Given the description of an element on the screen output the (x, y) to click on. 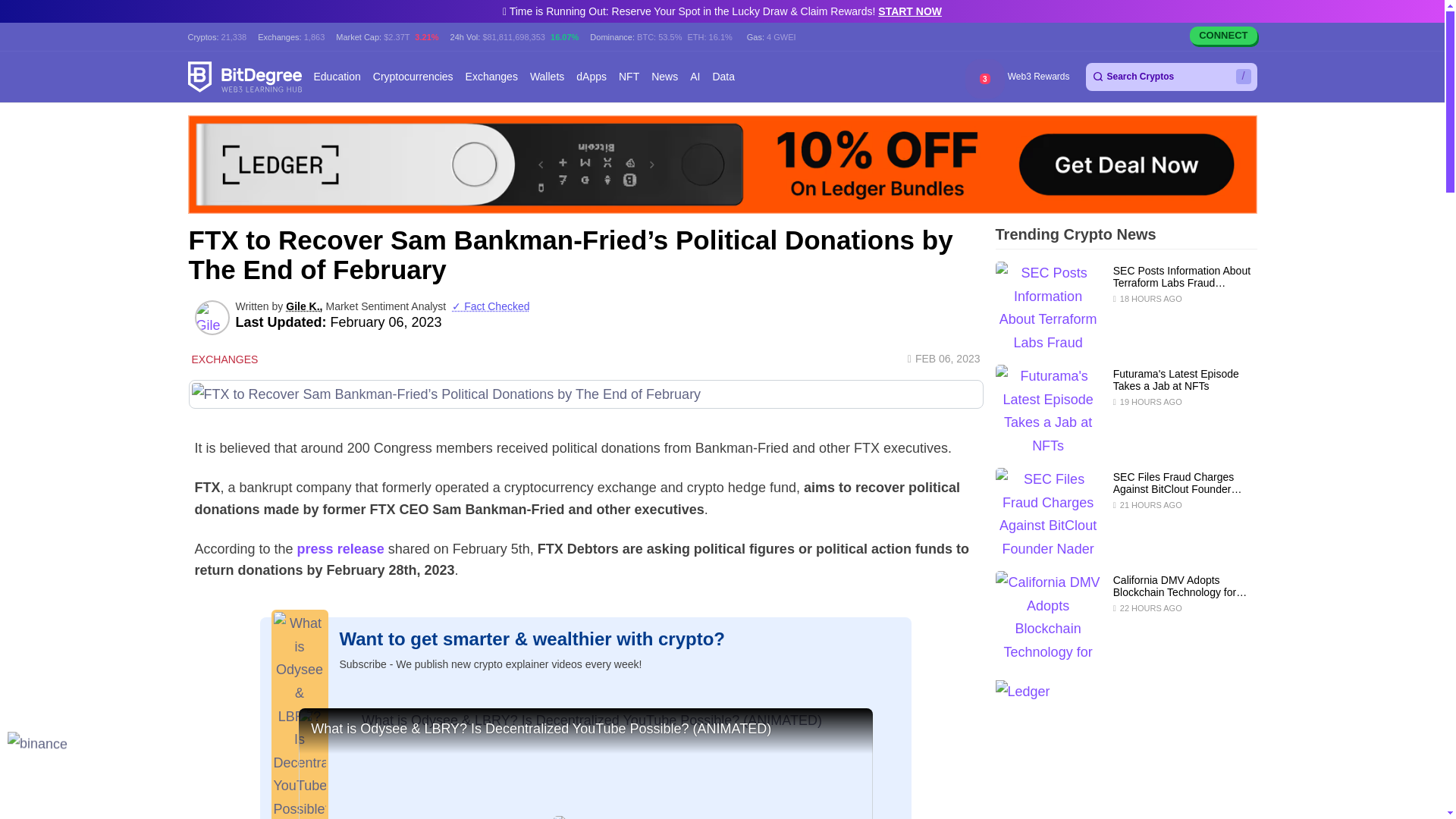
START NOW (909, 10)
Gile K., (303, 306)
Cryptocurrencies (412, 76)
Exchanges (491, 76)
dApps (591, 76)
EXCHANGES (222, 358)
Wallets (546, 76)
21,338 (234, 35)
Web3 Rewards (1037, 77)
4 GWEI (781, 35)
press release (340, 548)
Gile K. Market Sentiment Analyst (210, 317)
Ledger (722, 164)
1,863 (314, 35)
NFT (628, 76)
